Given the description of an element on the screen output the (x, y) to click on. 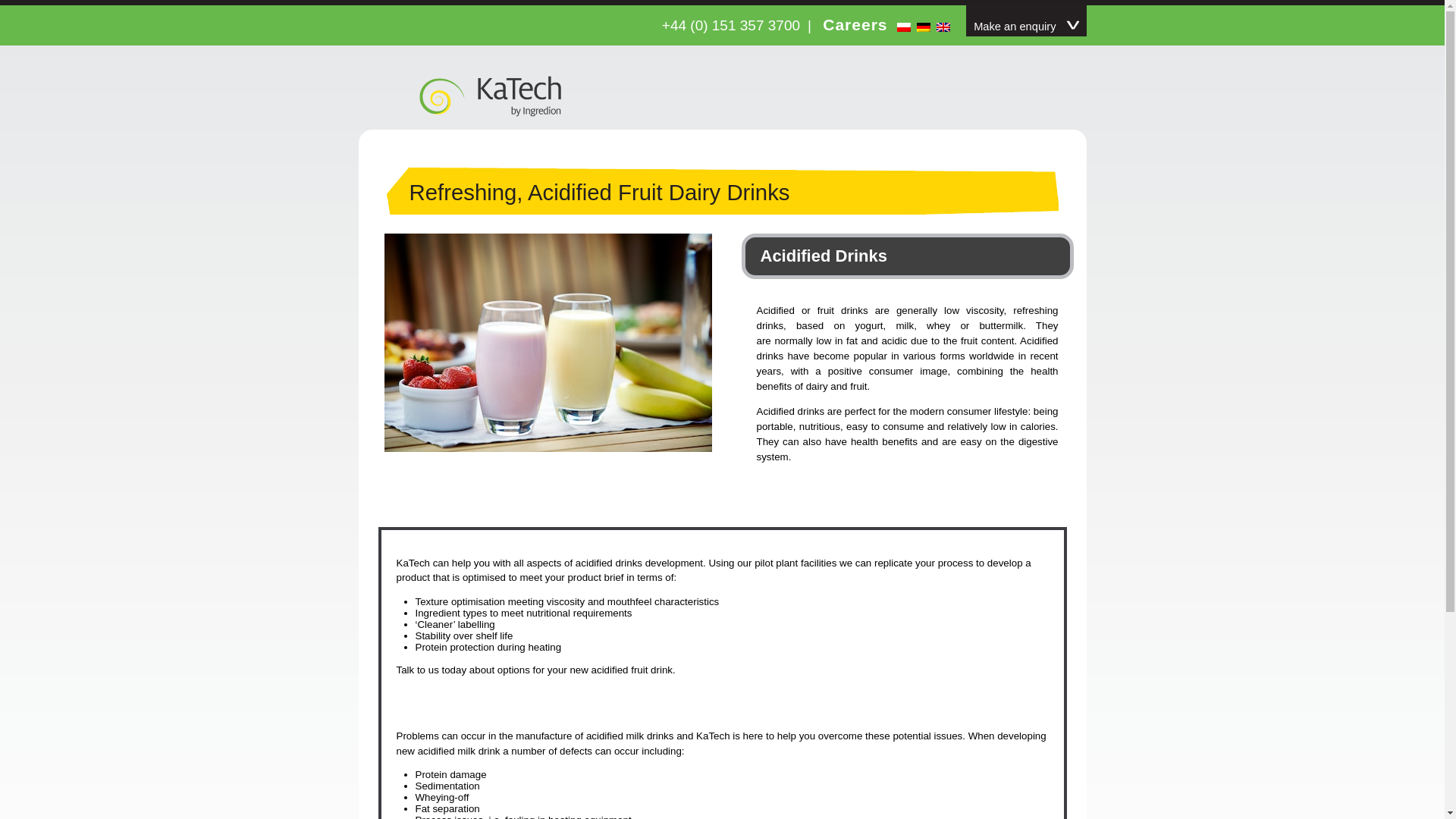
Our Expertise (659, 17)
Make an enquiry (1026, 20)
Careers (863, 24)
Our Solutions (783, 17)
